Given the description of an element on the screen output the (x, y) to click on. 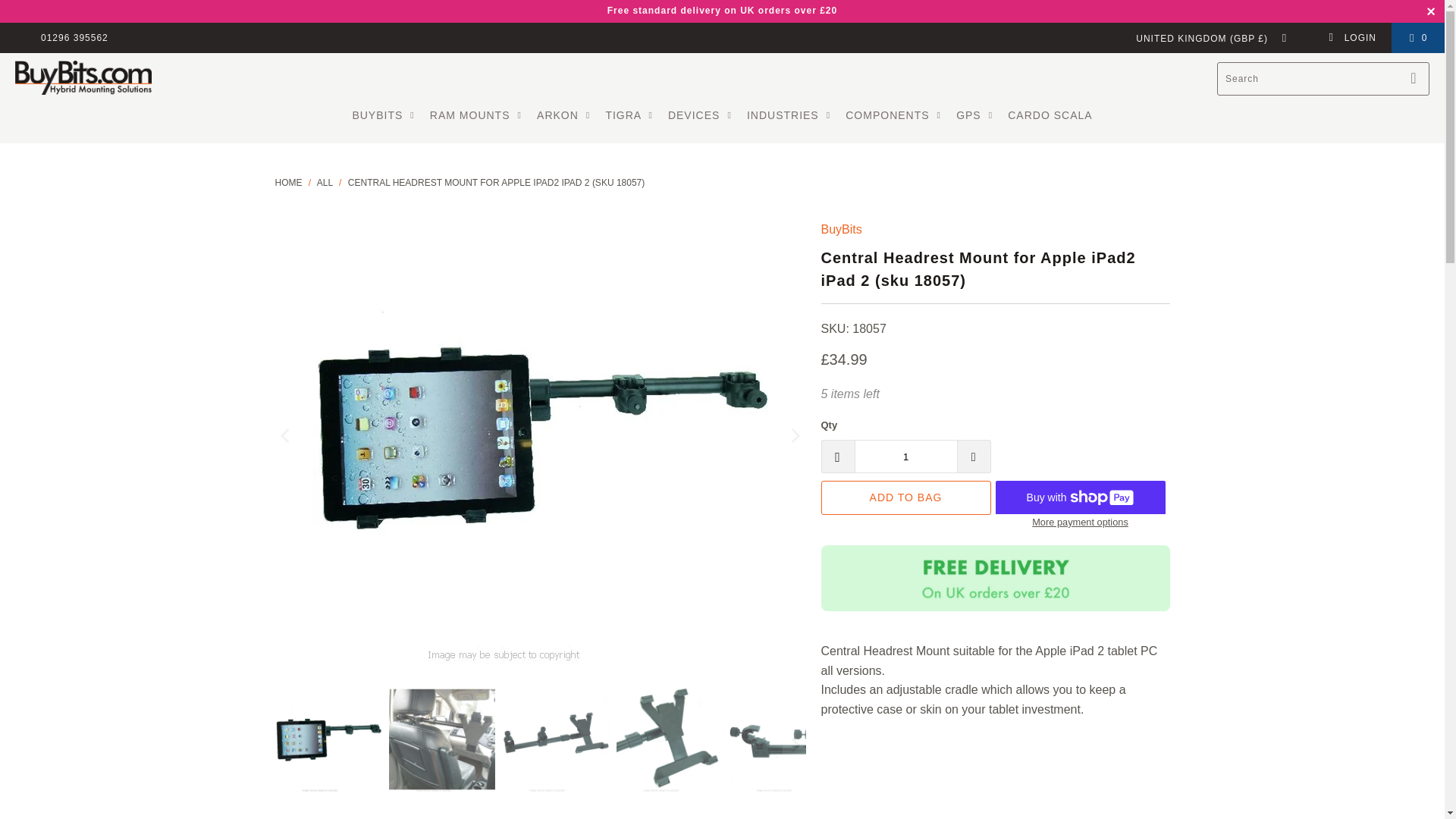
BuyBits Ltd (288, 182)
BuyBits Ltd (82, 78)
All (325, 182)
1 (904, 456)
BuyBits (841, 228)
My Account  (1351, 37)
